Given the description of an element on the screen output the (x, y) to click on. 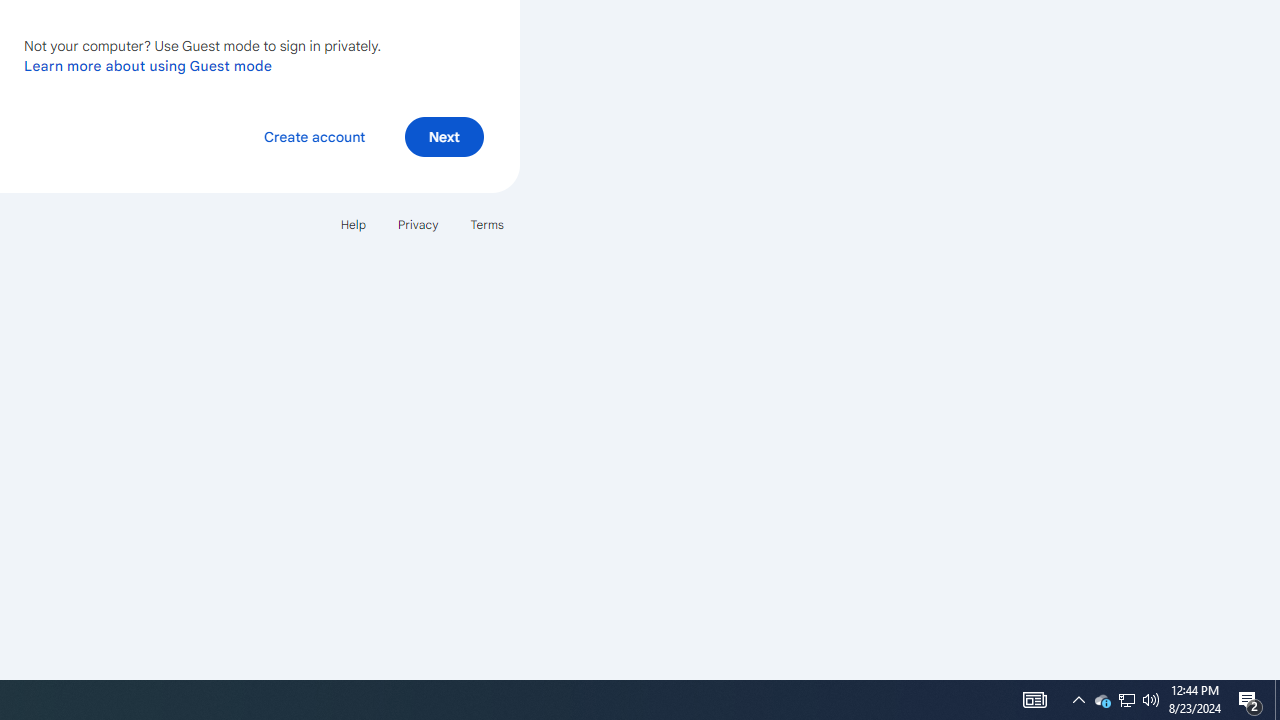
Terms (486, 224)
Learn more about using Guest mode (148, 65)
Next (443, 135)
Privacy (417, 224)
Help (352, 224)
Create account (314, 135)
